Given the description of an element on the screen output the (x, y) to click on. 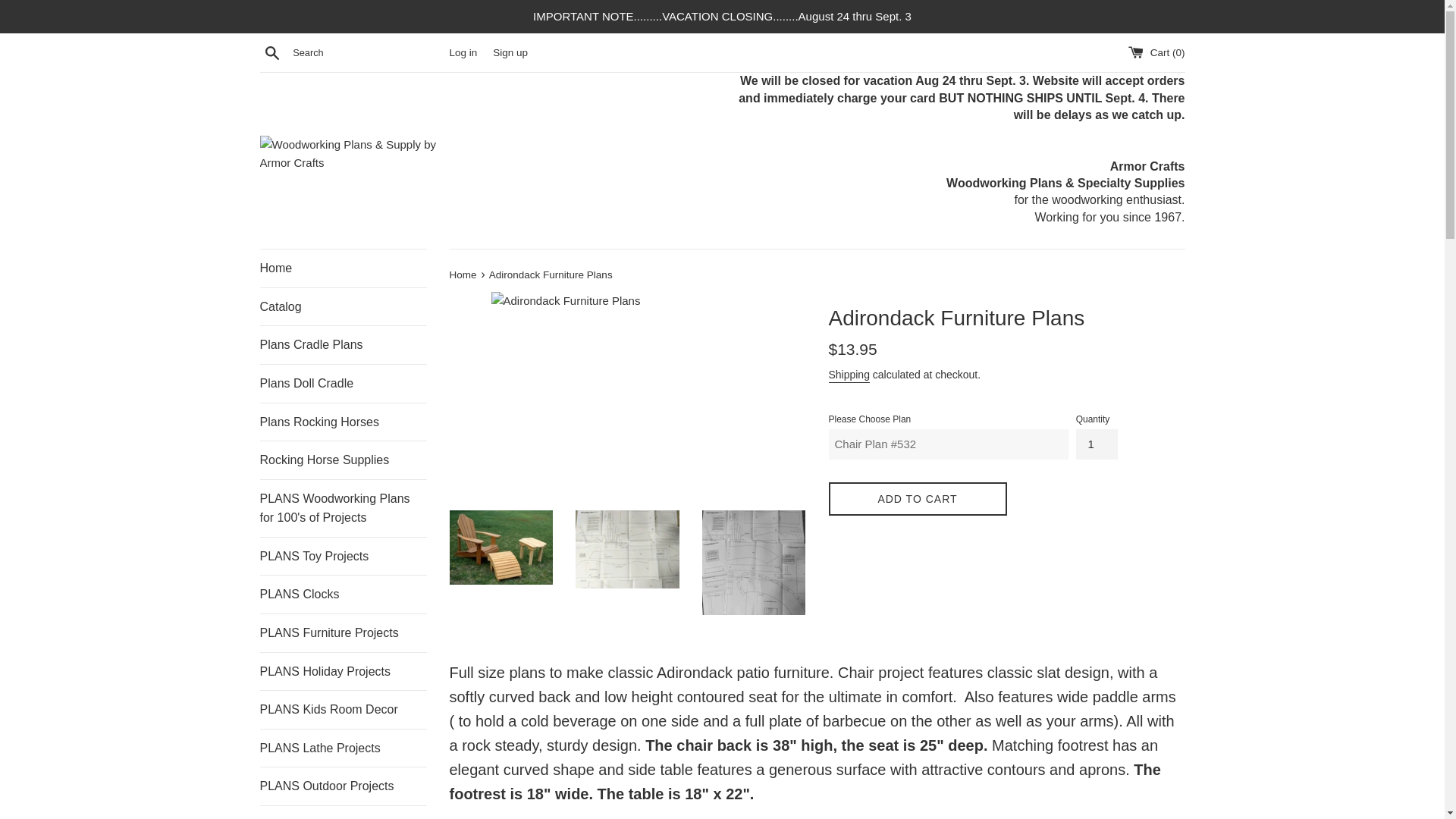
PLANS Lathe Projects (342, 748)
1 (1096, 444)
Catalog (342, 306)
Plans Cradle Plans (342, 344)
Bargain Bin (342, 812)
PLANS Kids Room Decor (342, 709)
PLANS Furniture Projects (342, 632)
PLANS Toy Projects (342, 556)
Rocking Horse Supplies (342, 460)
Home (342, 268)
